Given the description of an element on the screen output the (x, y) to click on. 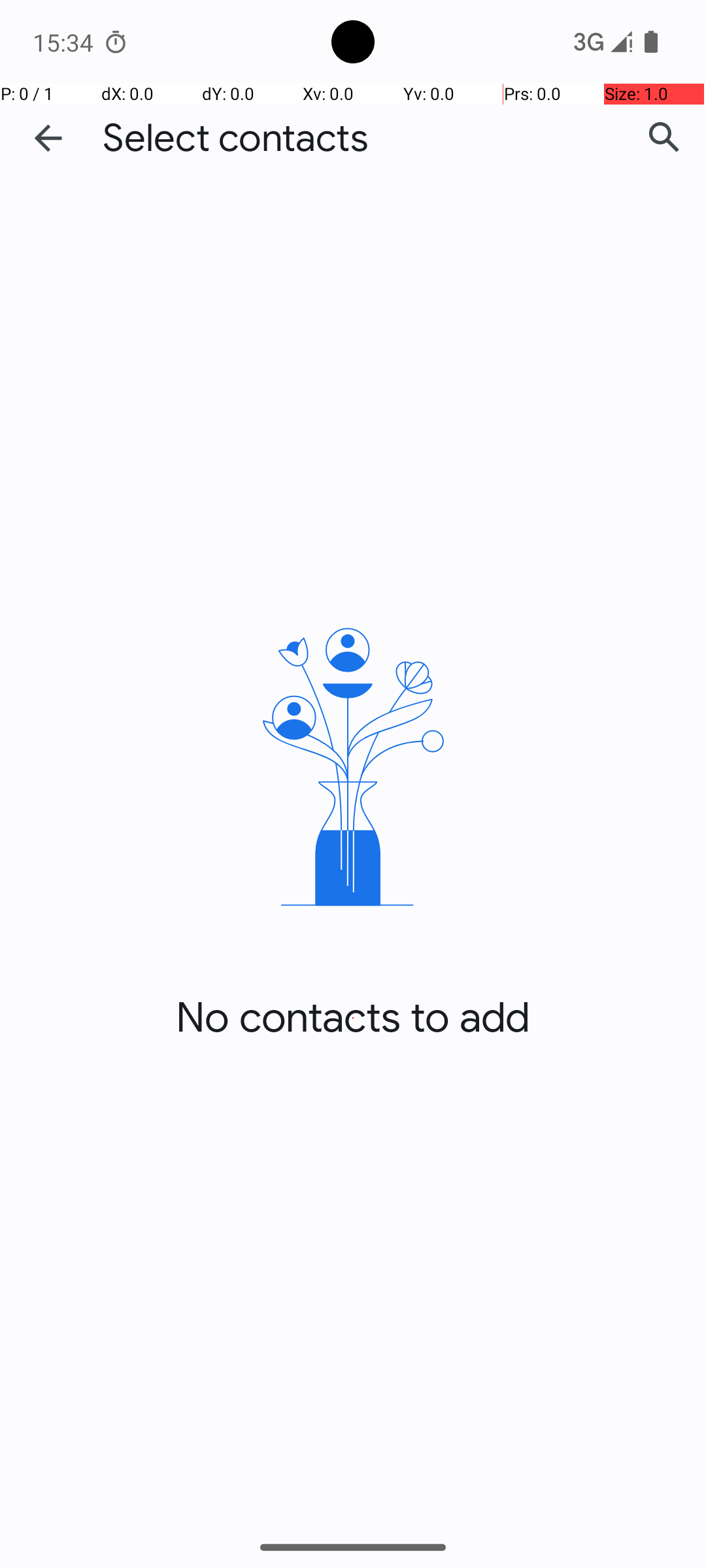
Select contacts Element type: android.widget.TextView (235, 138)
Search contacts Element type: android.widget.Button (664, 137)
No contacts to add Element type: android.widget.TextView (352, 1017)
